Given the description of an element on the screen output the (x, y) to click on. 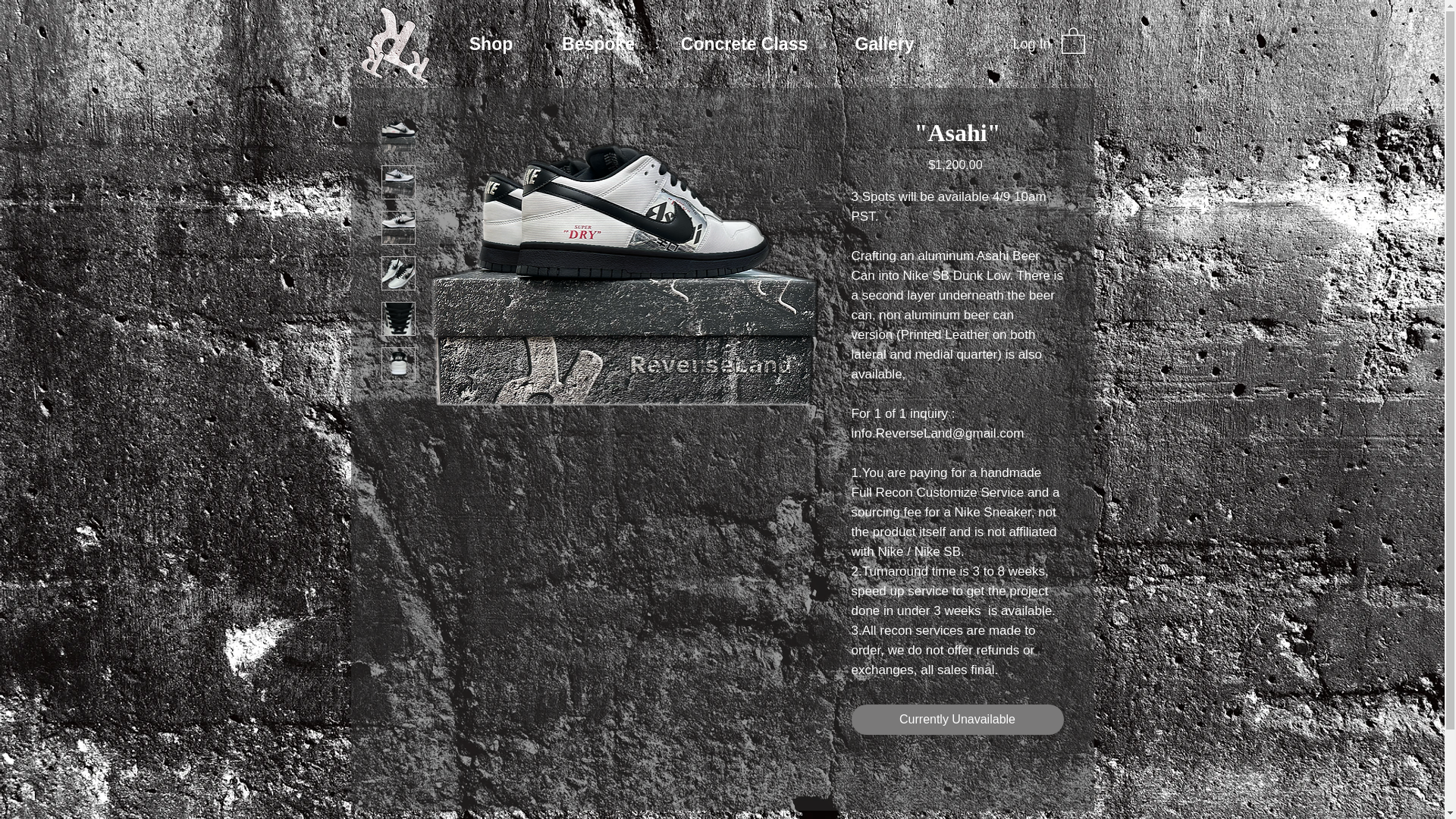
Gallery (884, 44)
Currently Unavailable (956, 719)
Bespoke (598, 44)
Log In (1031, 44)
Shop (491, 44)
Concrete Class (743, 44)
